Given the description of an element on the screen output the (x, y) to click on. 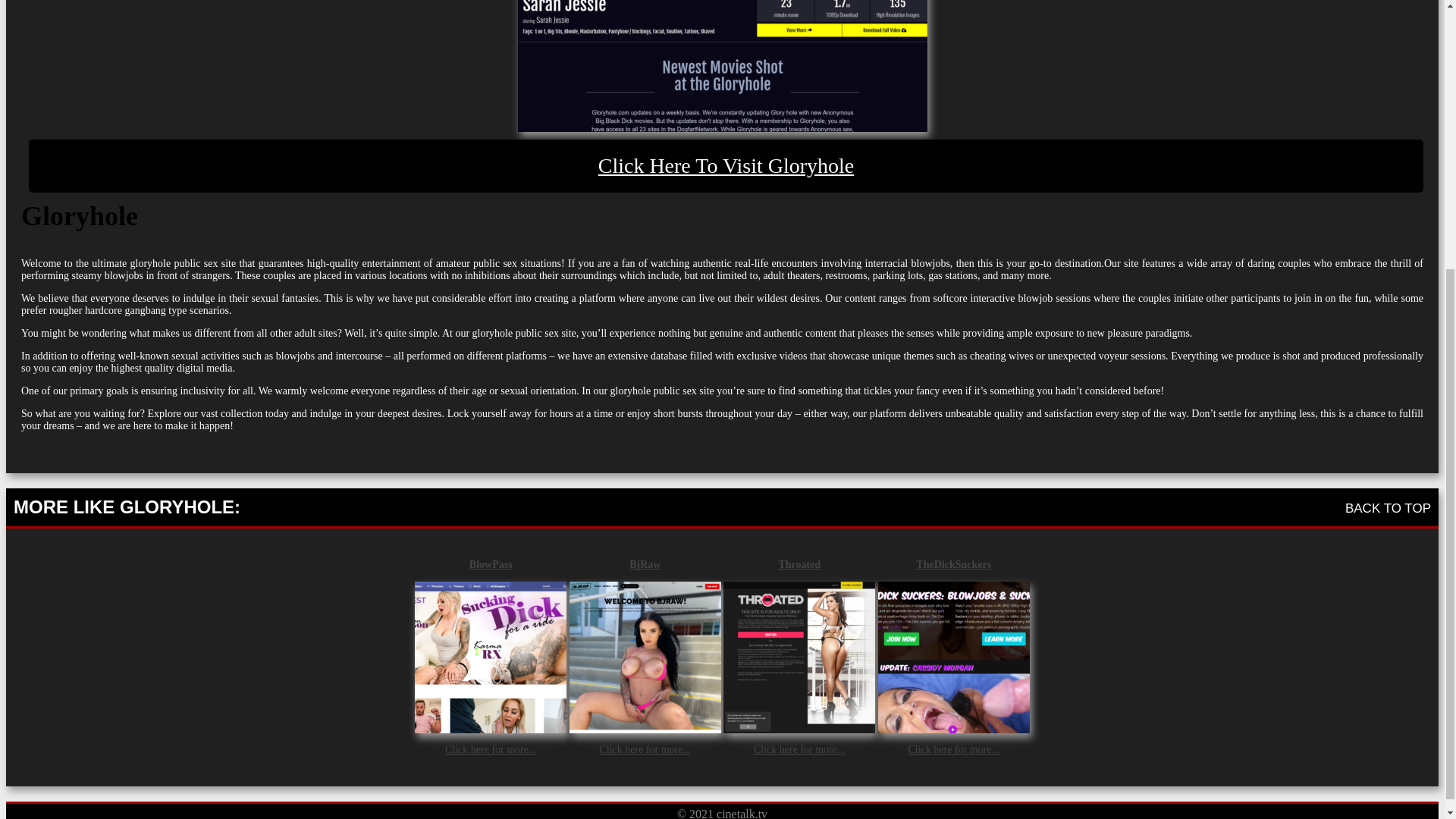
Click here for more... (799, 749)
BlowPass (490, 564)
BjRaw (644, 564)
BACK TO TOP (1388, 508)
Gloryhole (721, 65)
Gloryhole (726, 164)
Click here for more... (491, 749)
Click here for more... (952, 749)
Click here for more... (644, 749)
Click Here To Visit Gloryhole (726, 164)
Throated (799, 564)
TheDickSuckers (953, 564)
